Given the description of an element on the screen output the (x, y) to click on. 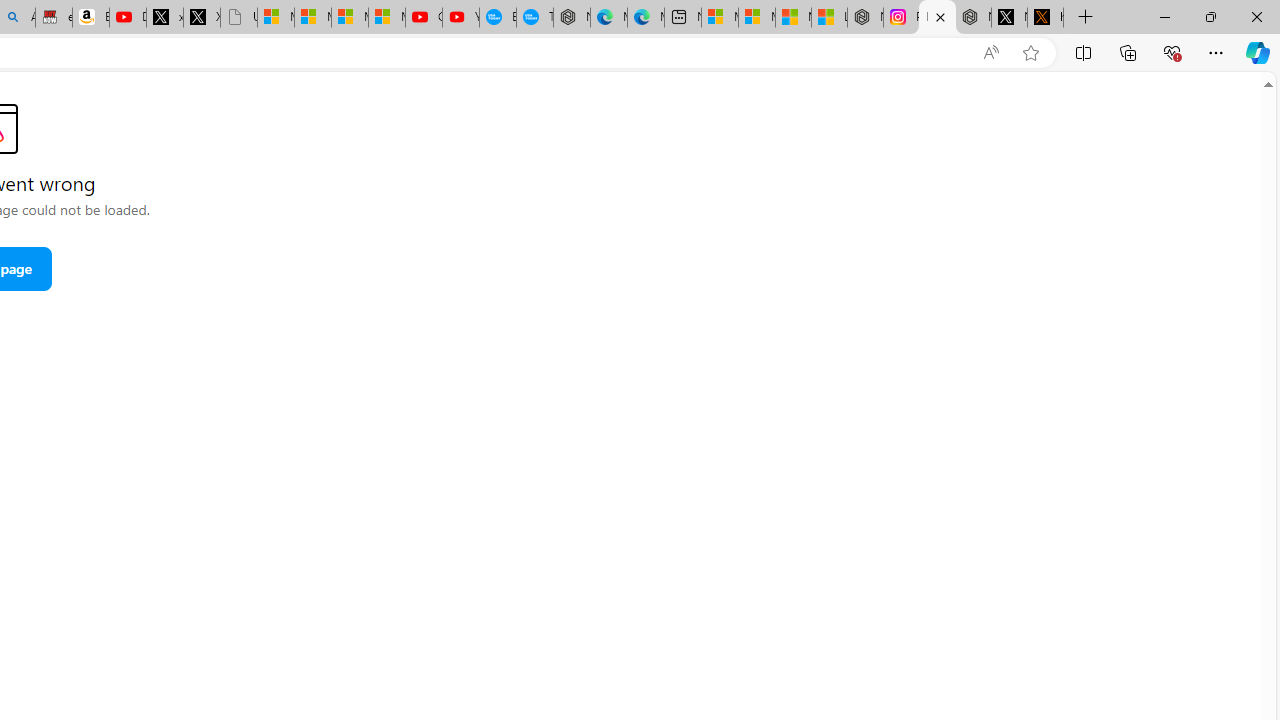
Untitled (239, 17)
Gloom - YouTube (423, 17)
Nordace (@NordaceOfficial) / X (1009, 17)
The most popular Google 'how to' searches (534, 17)
